Given the description of an element on the screen output the (x, y) to click on. 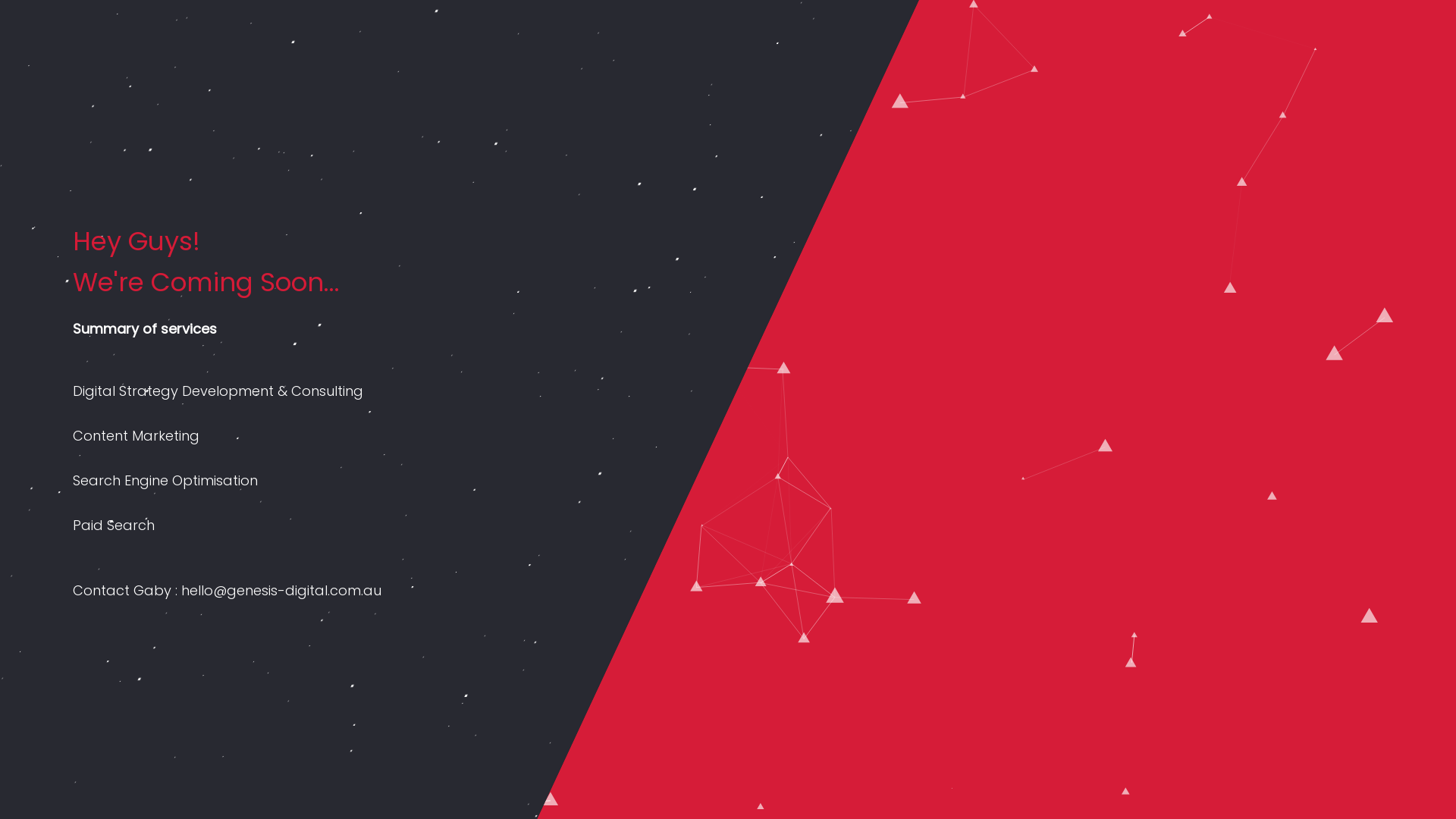
hello@genesis-digital.com.au Element type: text (281, 590)
